Given the description of an element on the screen output the (x, y) to click on. 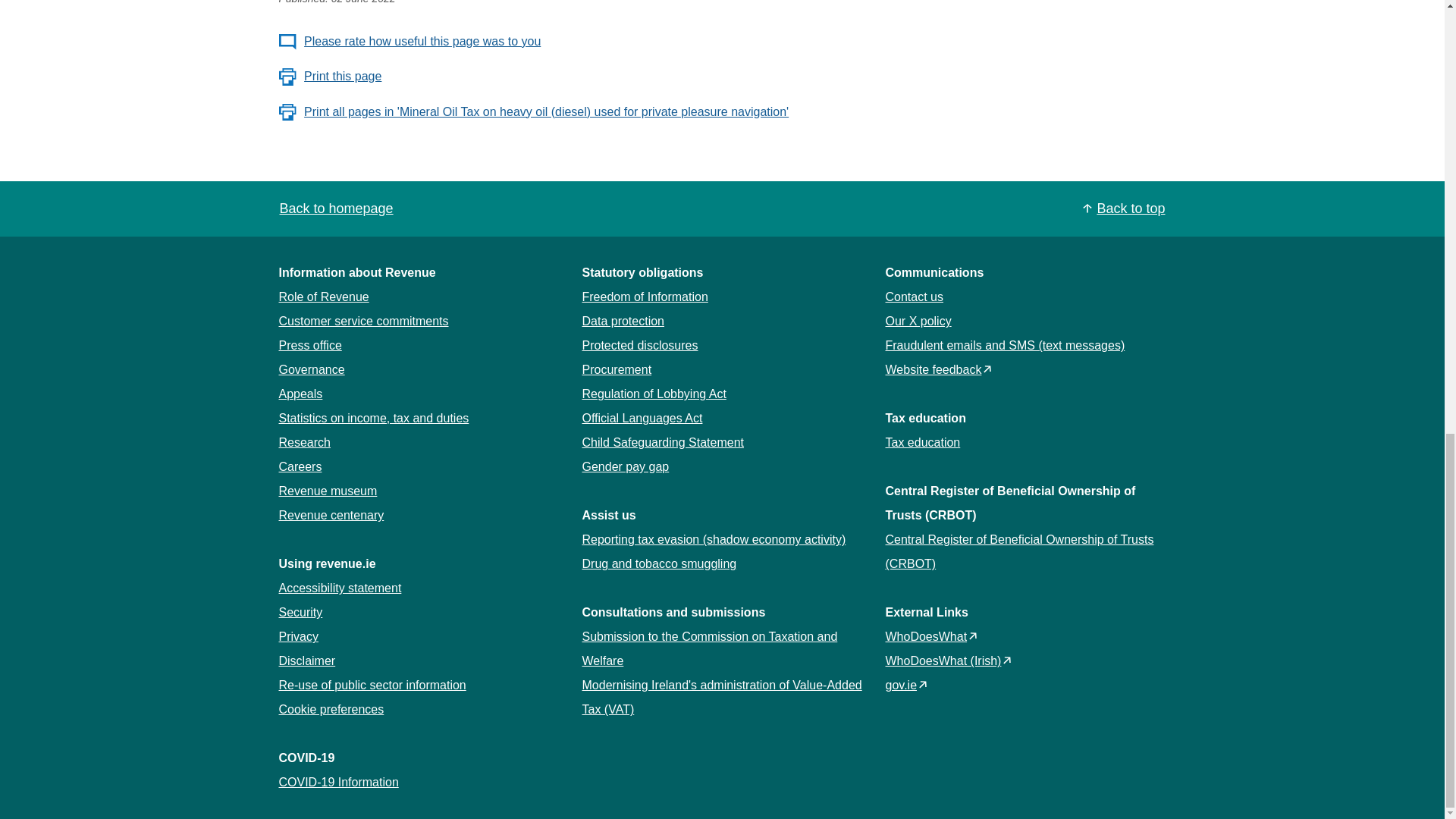
Back to homepage (336, 208)
Customer service commitments (363, 320)
Back to top (1123, 209)
Customer service commitments (363, 320)
Statistics on income, tax and duties (373, 418)
Print this page (330, 76)
Role of Revenue (324, 296)
Governance (312, 369)
Press office (310, 345)
Press office (310, 345)
